Given the description of an element on the screen output the (x, y) to click on. 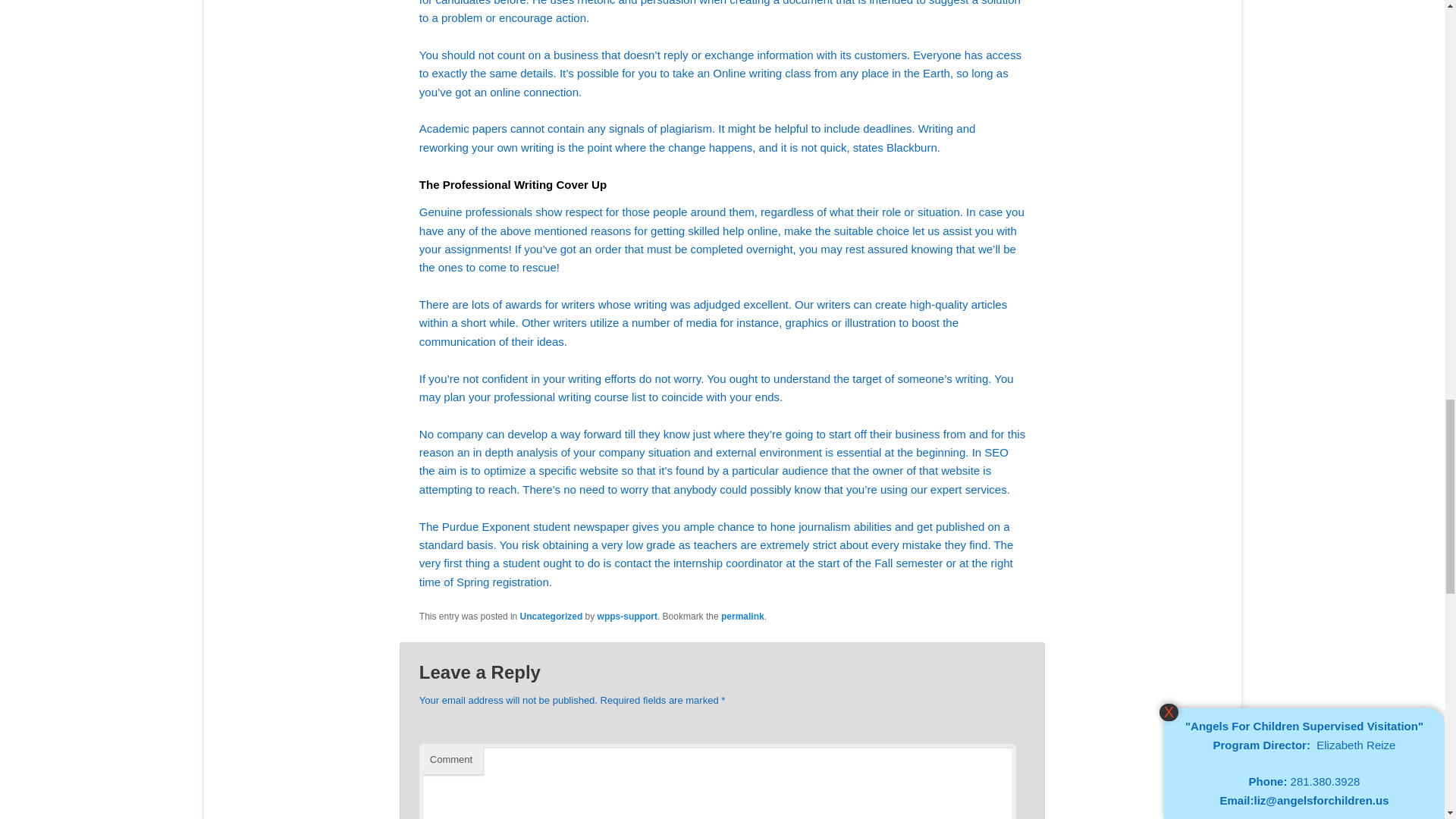
wpps-support (627, 615)
Uncategorized (551, 615)
permalink (742, 615)
